Given the description of an element on the screen output the (x, y) to click on. 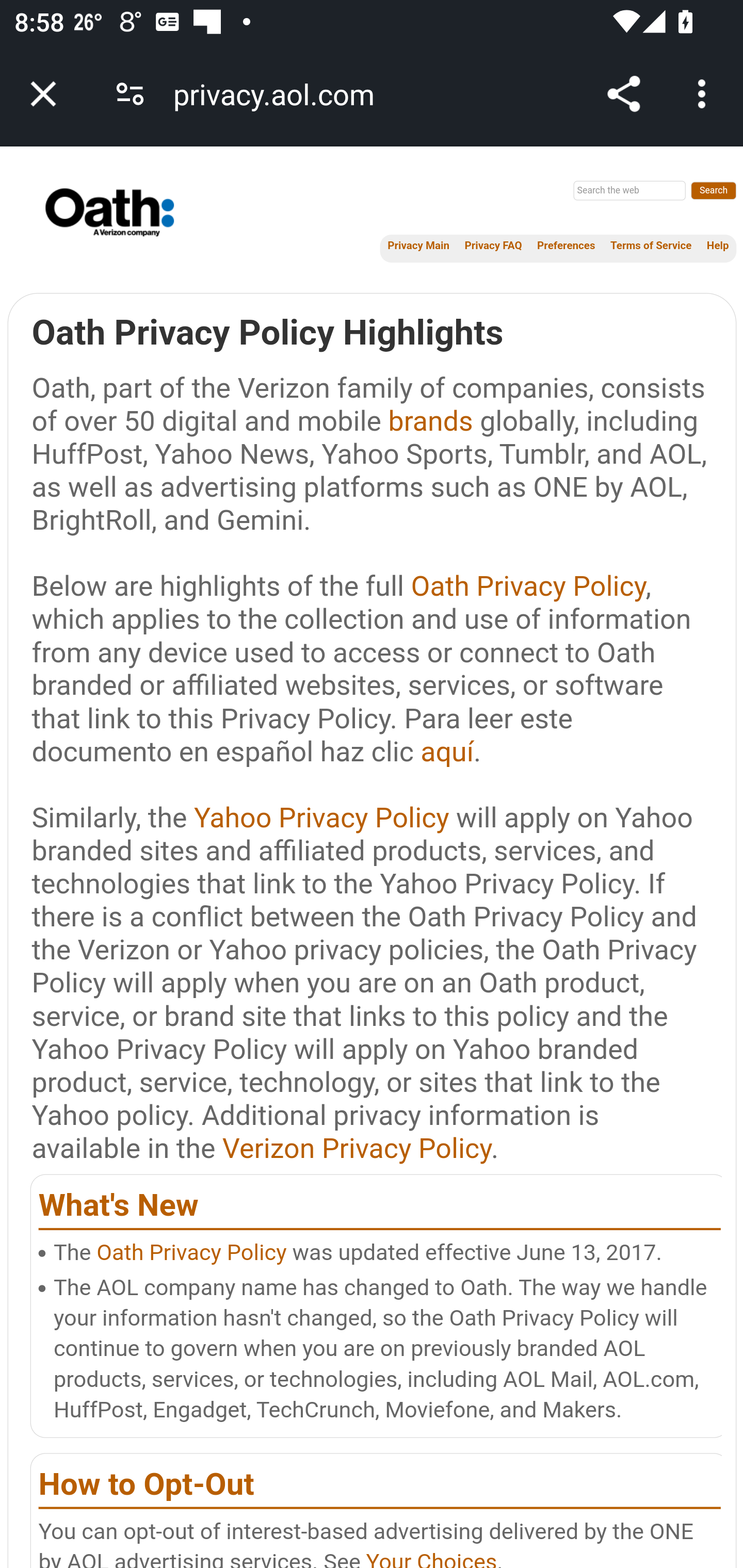
Close tab (43, 93)
Share (623, 93)
Customize and control Google Chrome (705, 93)
Connection is secure (129, 93)
privacy.aol.com (281, 93)
Search the web (629, 190)
Search (713, 189)
Oath.com (90, 213)
Privacy Main (418, 245)
Privacy FAQ (493, 245)
Preferences (565, 245)
Terms of Service (650, 245)
Help (717, 245)
brands (430, 420)
Oath Privacy Policy (527, 585)
aquí (447, 750)
Yahoo Privacy Policy (321, 817)
Verizon Privacy Policy (356, 1148)
Oath Privacy Policy (191, 1251)
Your Choices (431, 1558)
